Given the description of an element on the screen output the (x, y) to click on. 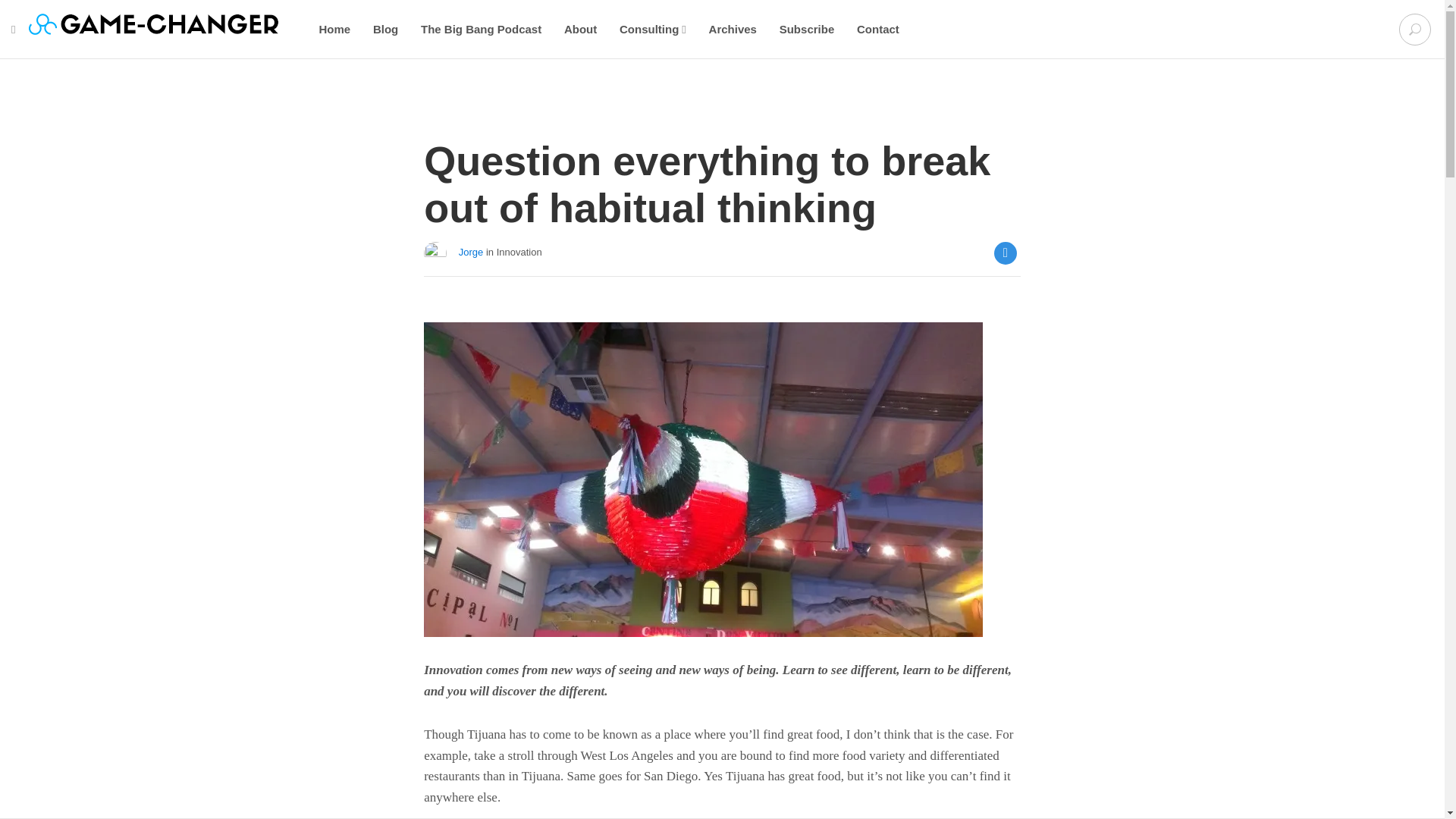
Contact (877, 29)
Jorge (470, 252)
Subscribe (807, 29)
Archives (732, 29)
Innovation (518, 252)
View all posts by Jorge (470, 252)
The Big Bang Podcast (480, 29)
Consulting (652, 29)
Search for: (1415, 29)
